Given the description of an element on the screen output the (x, y) to click on. 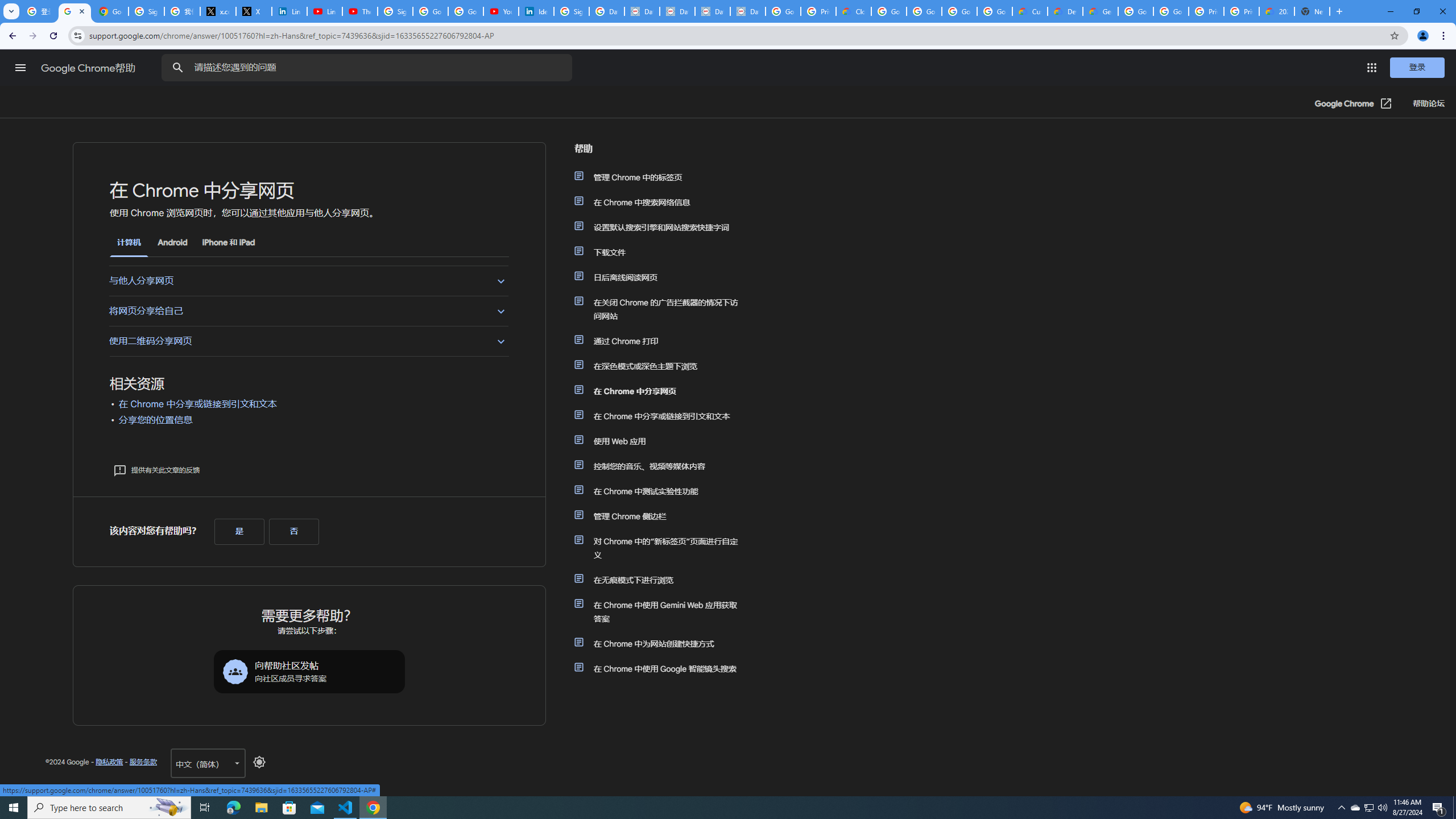
Android (172, 242)
Data Privacy Framework (677, 11)
